Given the description of an element on the screen output the (x, y) to click on. 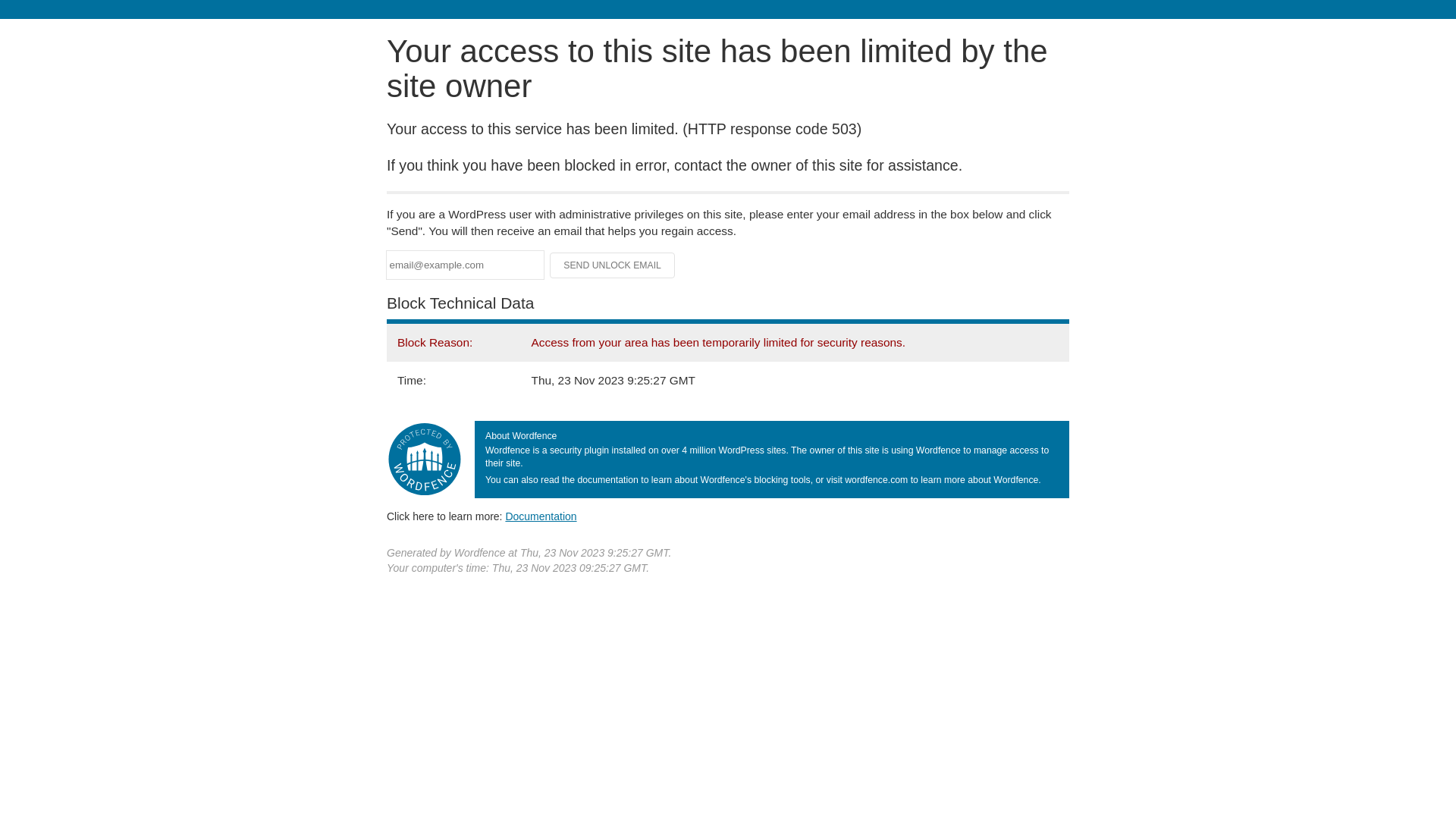
Documentation Element type: text (540, 516)
Send Unlock Email Element type: text (612, 265)
